Given the description of an element on the screen output the (x, y) to click on. 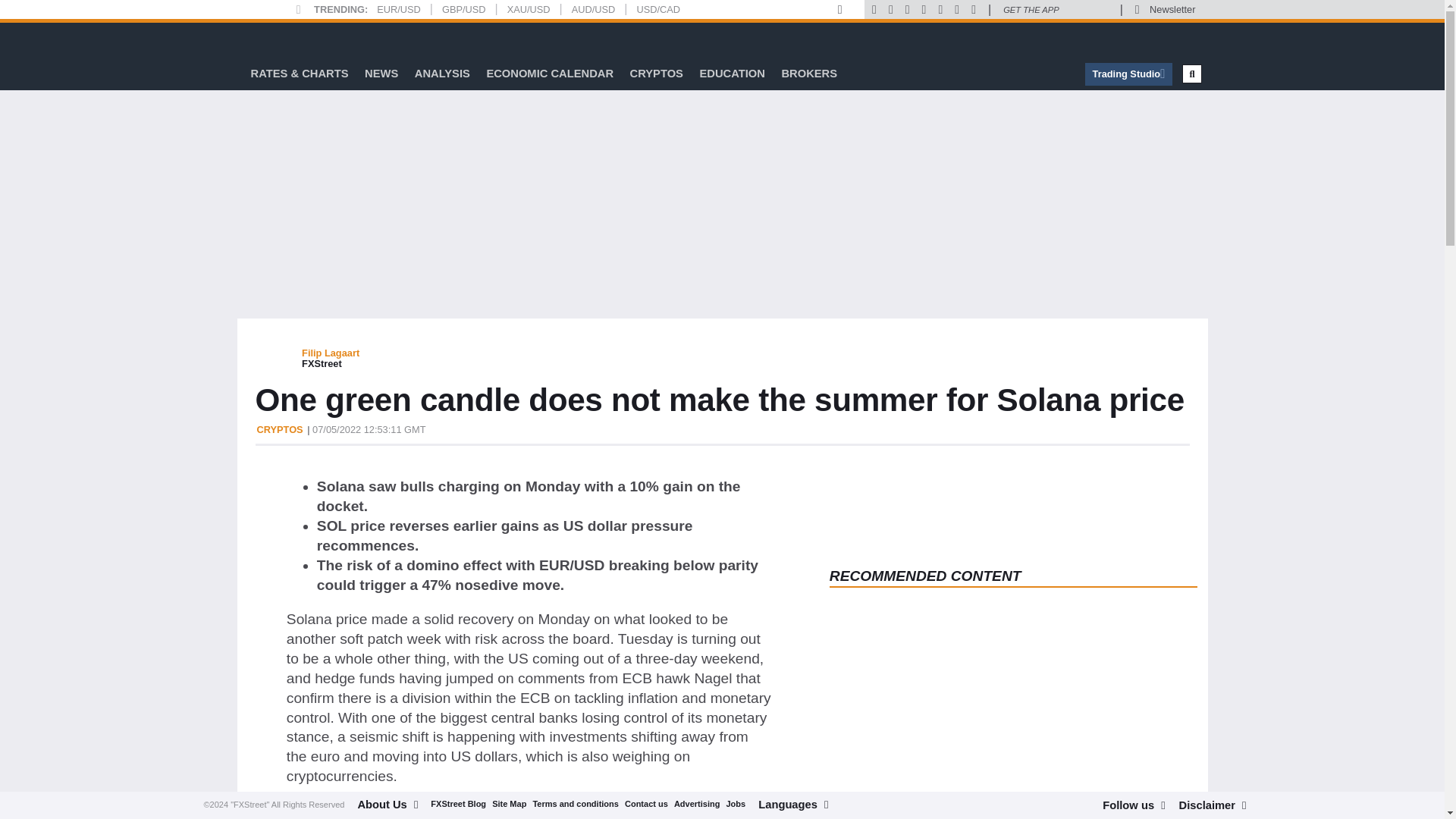
FXStreet (290, 39)
Newsletter (1172, 9)
FXStreet (290, 39)
